Given the description of an element on the screen output the (x, y) to click on. 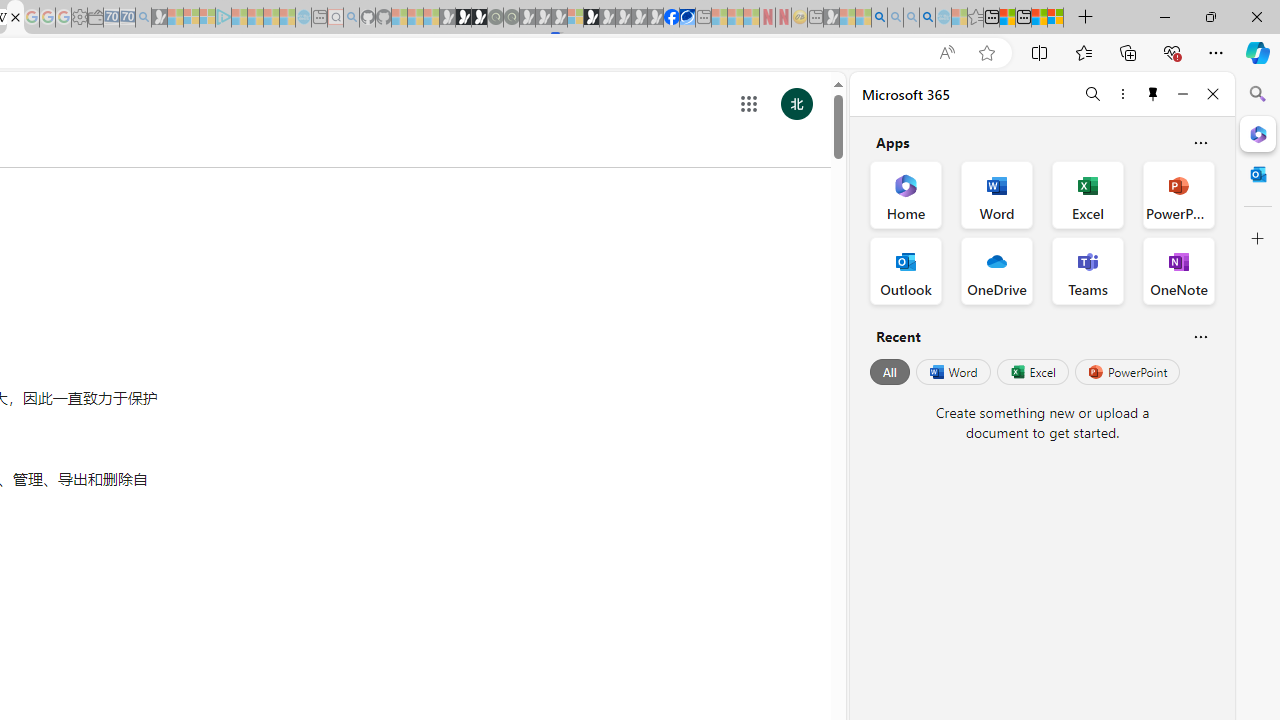
Word Office App (996, 194)
PowerPoint (1127, 372)
